Given the description of an element on the screen output the (x, y) to click on. 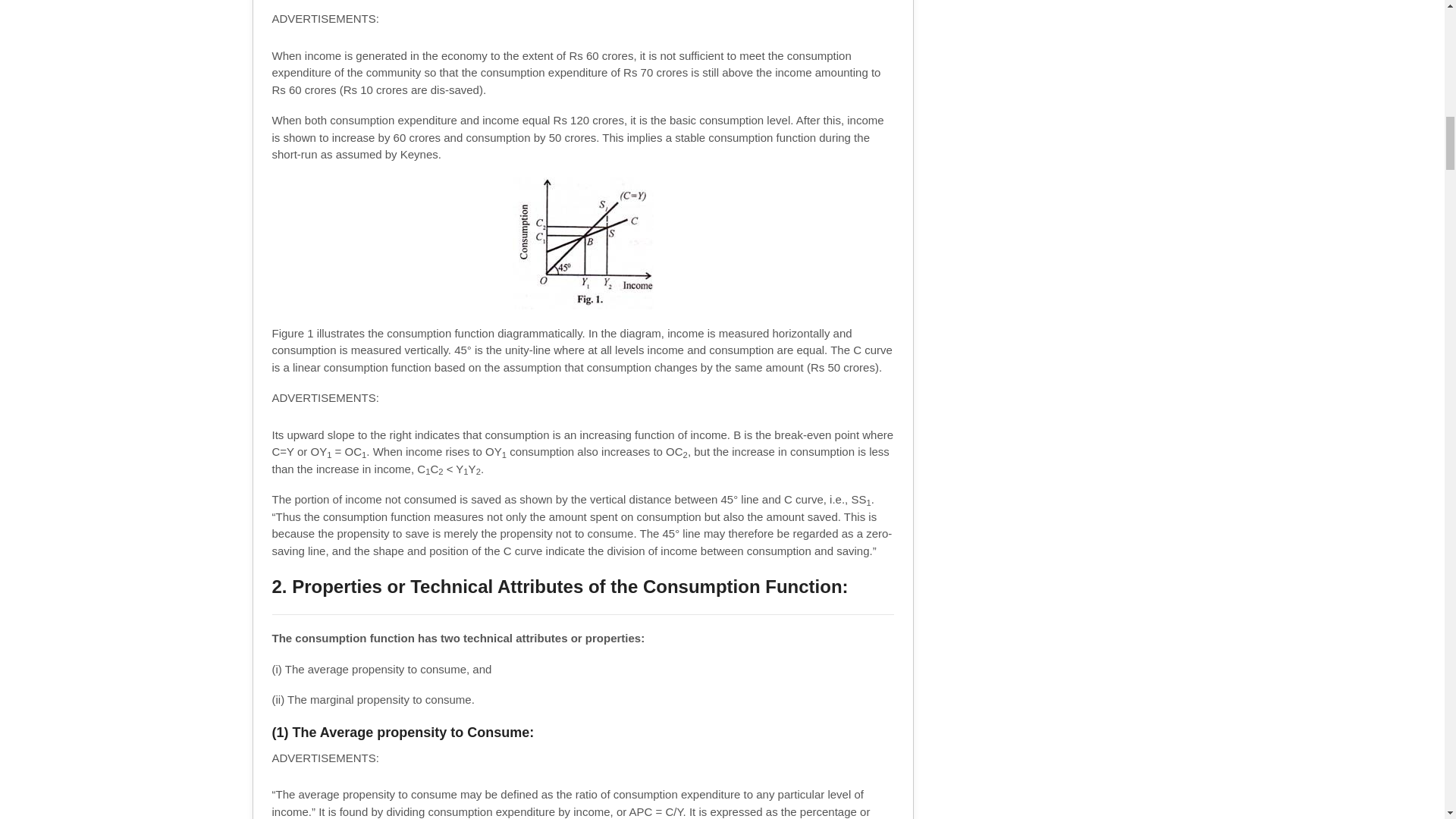
The Consumption Function  (582, 244)
